Given the description of an element on the screen output the (x, y) to click on. 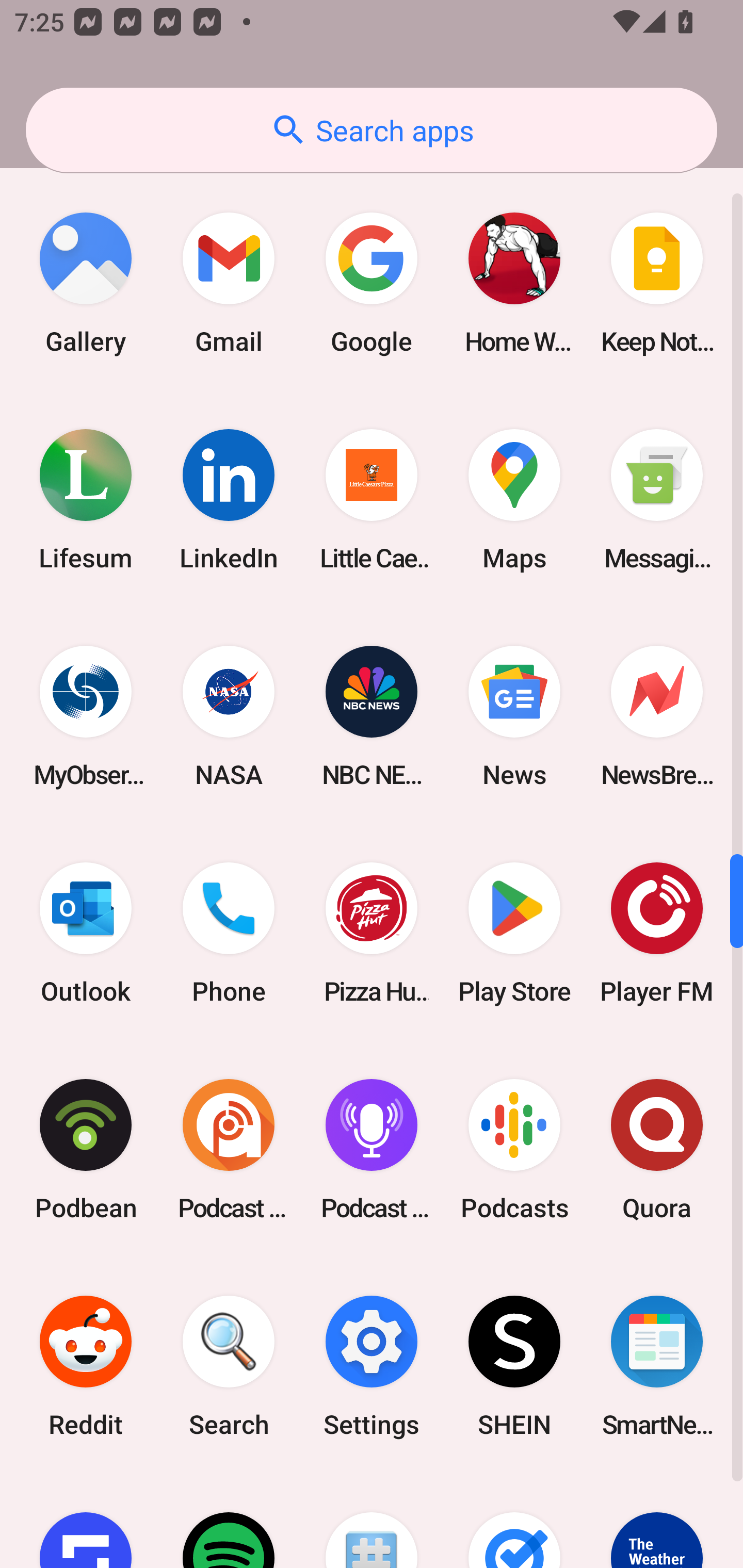
  Search apps (371, 130)
Gallery (85, 283)
Gmail (228, 283)
Google (371, 283)
Home Workout (514, 283)
Keep Notes (656, 283)
Lifesum (85, 500)
LinkedIn (228, 500)
Little Caesars Pizza (371, 500)
Maps (514, 500)
Messaging (656, 500)
MyObservatory (85, 716)
NASA (228, 716)
NBC NEWS (371, 716)
News (514, 716)
NewsBreak (656, 716)
Outlook (85, 932)
Phone (228, 932)
Pizza Hut HK & Macau (371, 932)
Play Store (514, 932)
Player FM (656, 932)
Podbean (85, 1149)
Podcast Addict (228, 1149)
Podcast Player (371, 1149)
Podcasts (514, 1149)
Quora (656, 1149)
Reddit (85, 1365)
Search (228, 1365)
Settings (371, 1365)
SHEIN (514, 1365)
SmartNews (656, 1365)
Sofascore (85, 1520)
Spotify (228, 1520)
Superuser (371, 1520)
Tasks (514, 1520)
The Weather Channel (656, 1520)
